Given the description of an element on the screen output the (x, y) to click on. 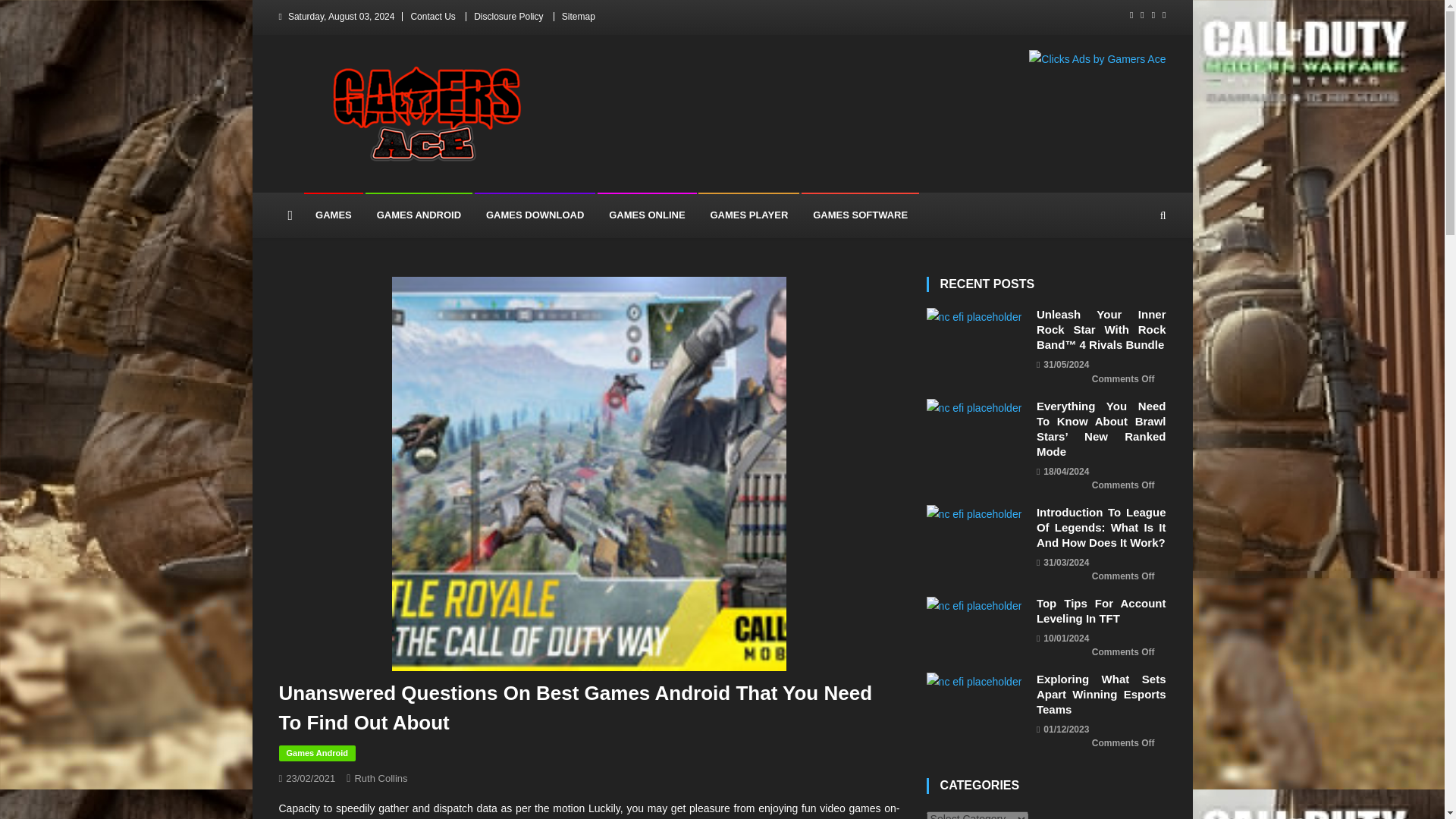
Disclosure Policy (508, 16)
Gamers Ace (349, 176)
Search (1133, 277)
GAMES PLAYER (748, 215)
GAMES ONLINE (645, 215)
Contact Us (432, 16)
GAMES ANDROID (418, 215)
GAMES (333, 215)
GAMES SOFTWARE (860, 215)
Sitemap (578, 16)
GAMES DOWNLOAD (534, 215)
Ruth Collins (380, 778)
